Given the description of an element on the screen output the (x, y) to click on. 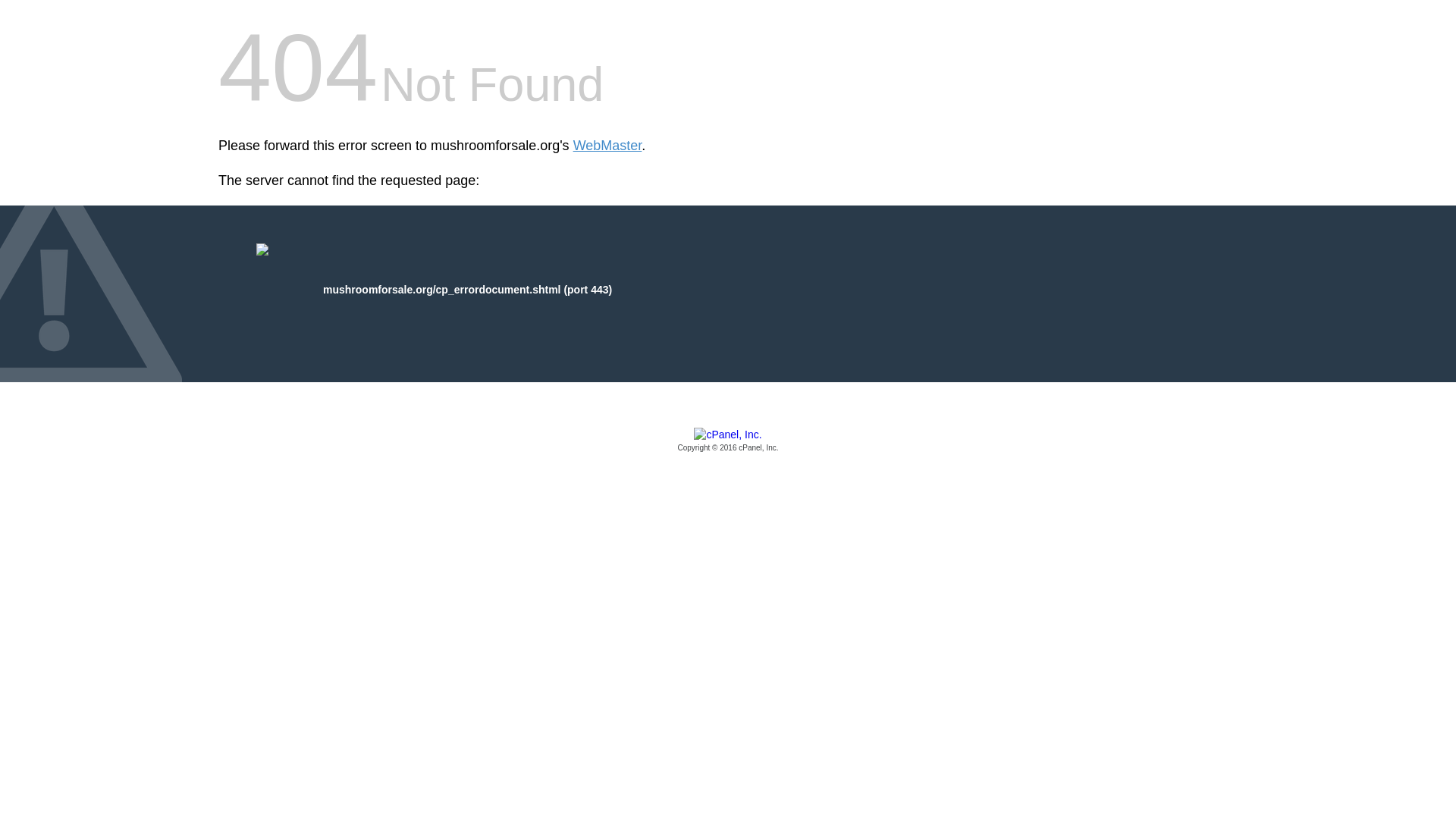
WebMaster (607, 145)
cPanel, Inc. (727, 440)
